Given the description of an element on the screen output the (x, y) to click on. 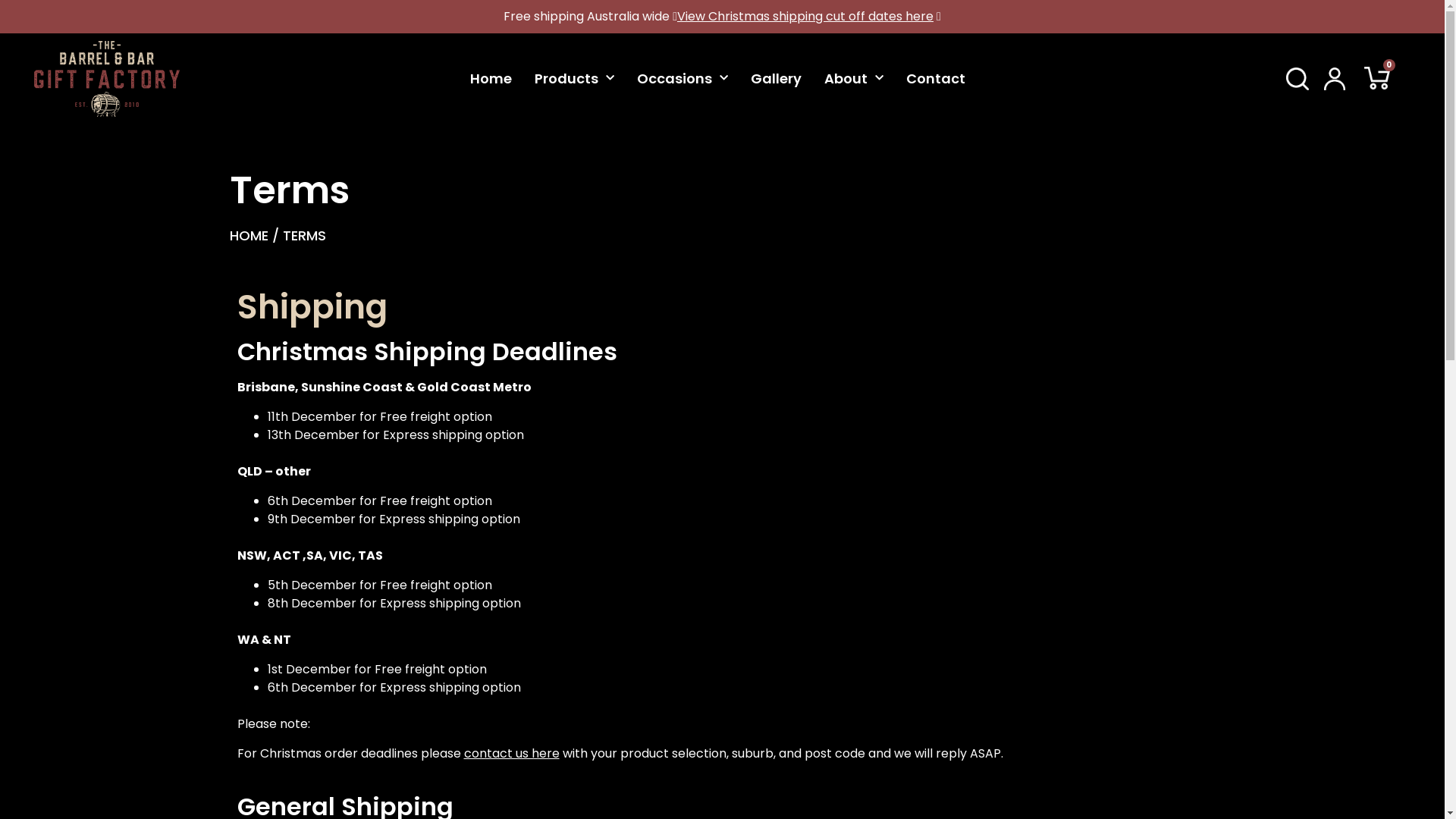
0 Element type: text (1376, 78)
View Christmas shipping cut off dates here Element type: text (805, 16)
HOME Element type: text (248, 234)
About Element type: text (853, 78)
Home Element type: text (490, 78)
Contact Element type: text (935, 78)
Products Element type: text (574, 78)
Occasions Element type: text (682, 78)
Gallery Element type: text (775, 78)
contact us here Element type: text (511, 753)
